Given the description of an element on the screen output the (x, y) to click on. 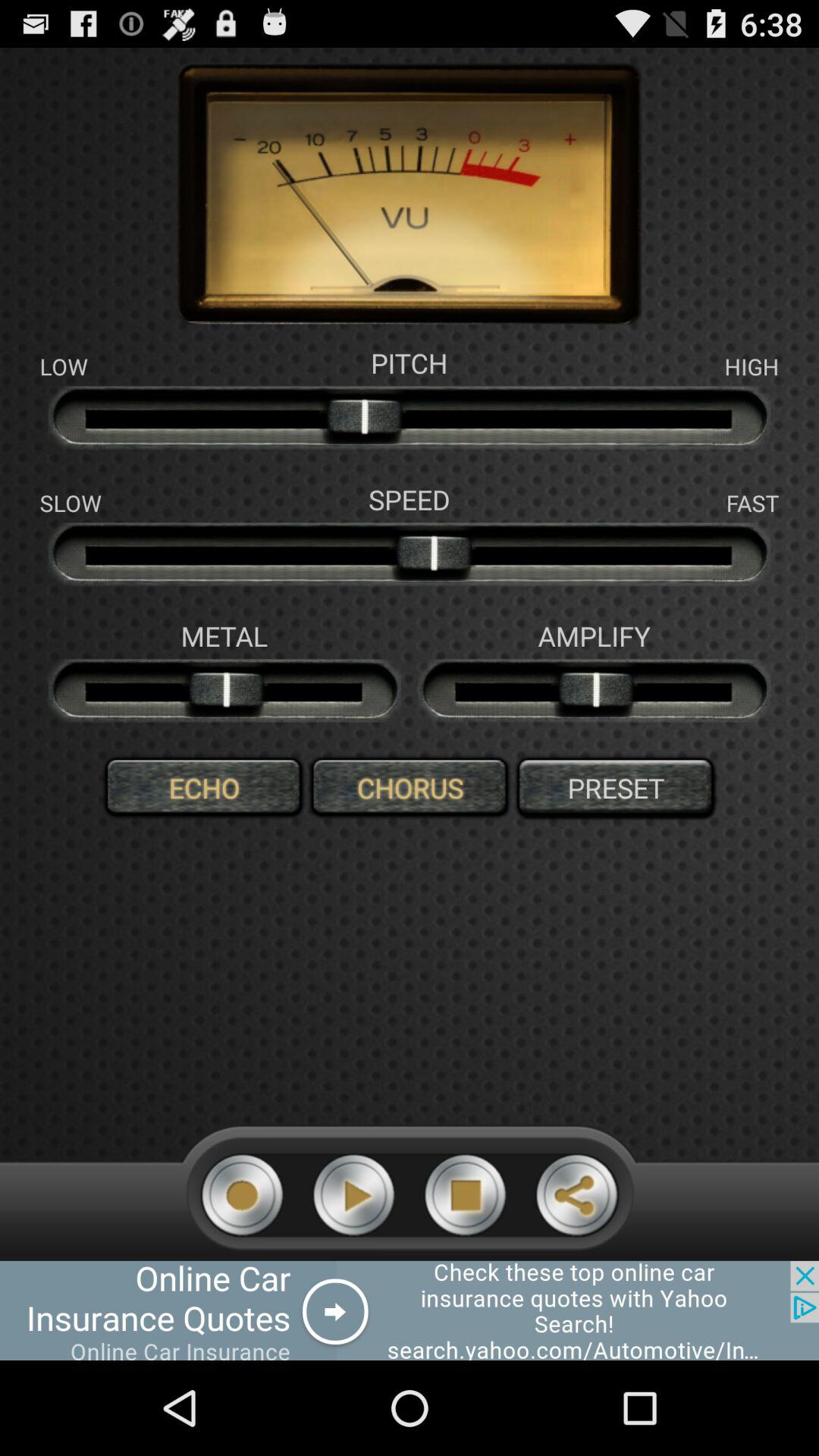
stop (465, 1195)
